Given the description of an element on the screen output the (x, y) to click on. 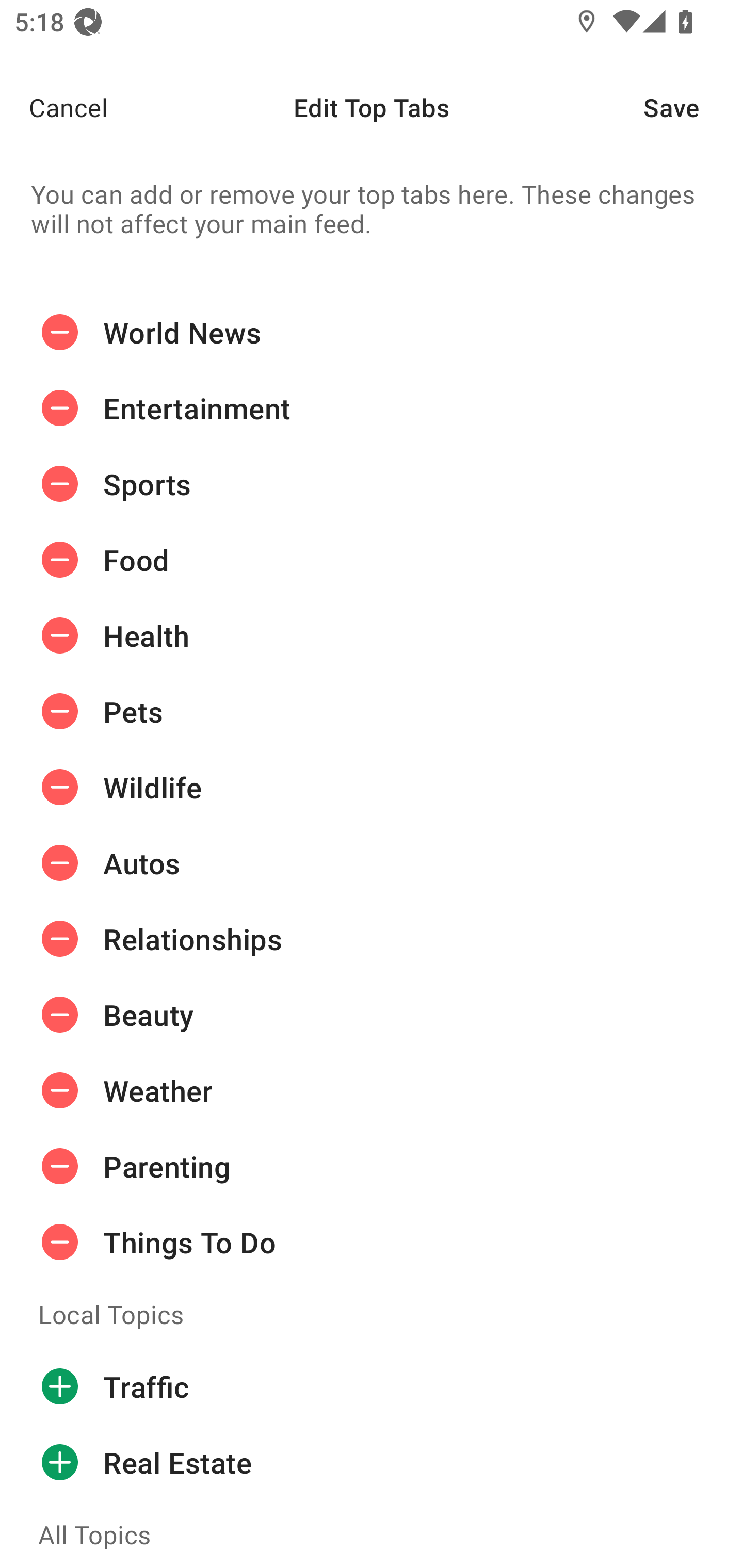
Cancel (53, 106)
Save (693, 106)
World News (371, 332)
Entertainment (371, 408)
Sports (371, 484)
Food (371, 559)
Health (371, 635)
Pets (371, 711)
Wildlife (371, 786)
Autos (371, 862)
Relationships (371, 938)
Beauty (371, 1014)
Weather (371, 1090)
Parenting (371, 1166)
Things To Do (371, 1241)
Traffic (371, 1386)
Real Estate (371, 1462)
